Given the description of an element on the screen output the (x, y) to click on. 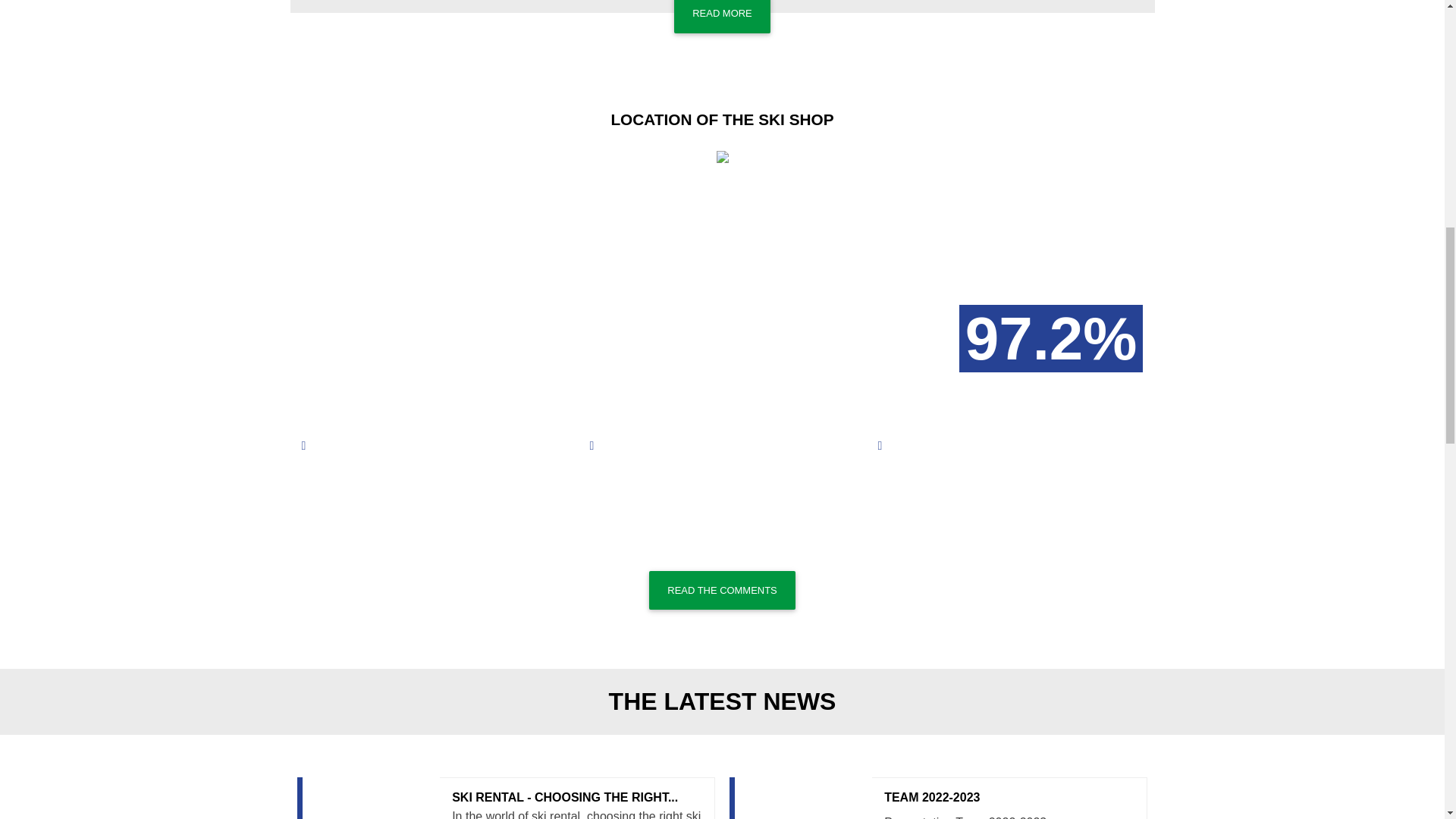
Book step 1 - The ski shop (722, 16)
See other reviews submitted by clients (721, 589)
READ MORE (938, 798)
READ THE COMMENTS (722, 16)
